Given the description of an element on the screen output the (x, y) to click on. 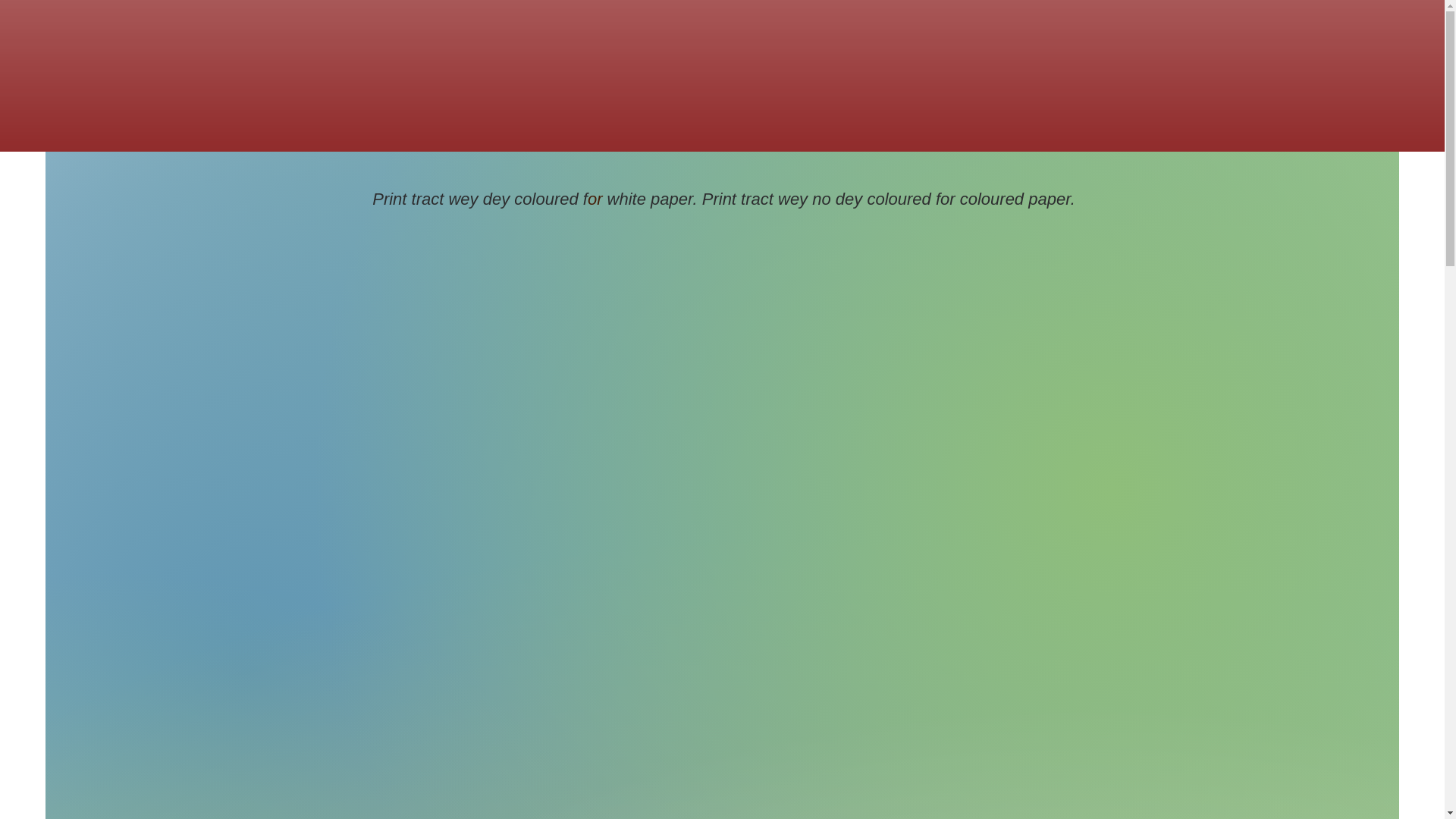
Printing  (325, 319)
here (798, 458)
here (848, 249)
